Given the description of an element on the screen output the (x, y) to click on. 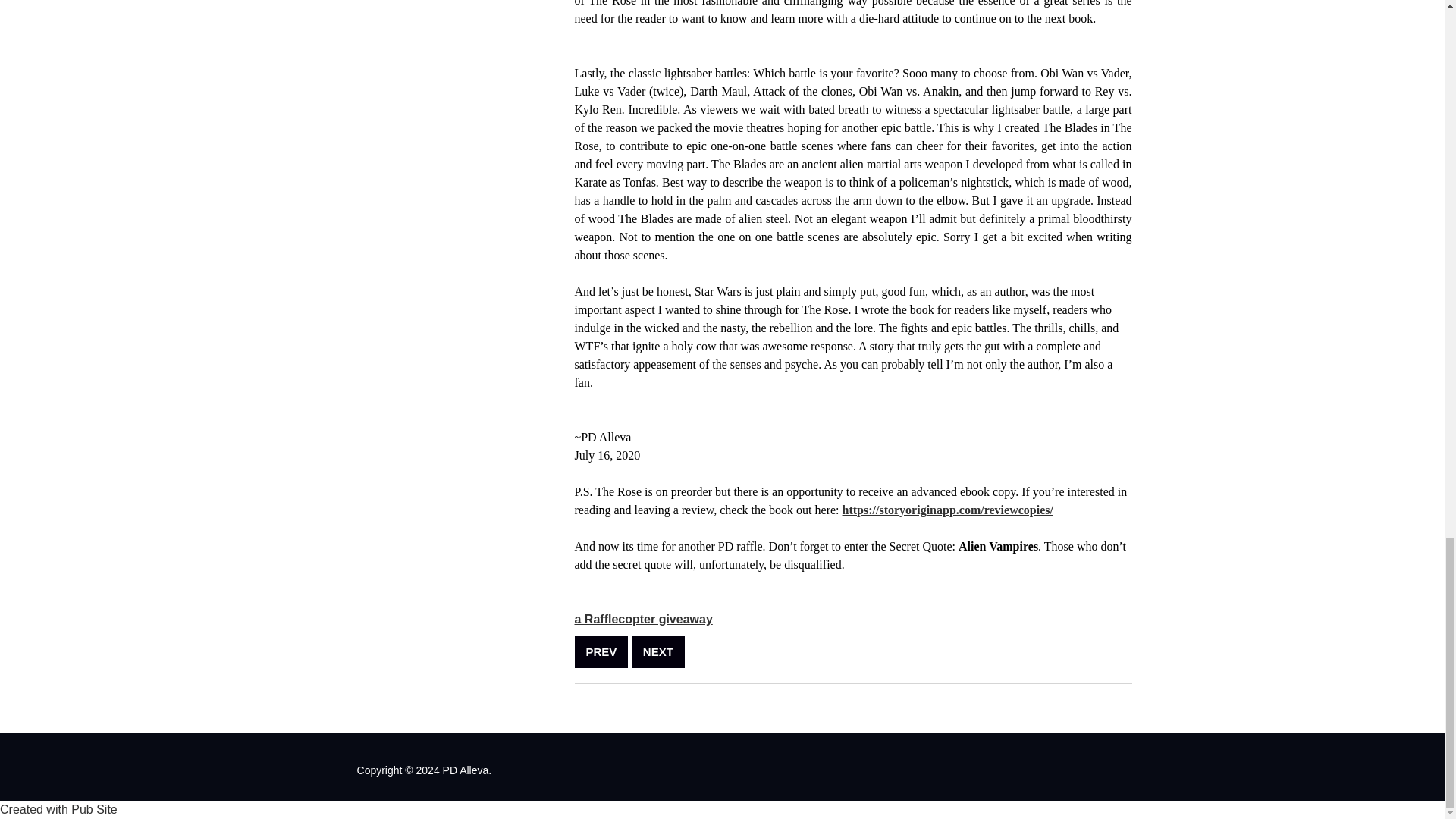
a Rafflecopter giveaway (644, 618)
PREV (601, 652)
NEXT (657, 652)
